Given the description of an element on the screen output the (x, y) to click on. 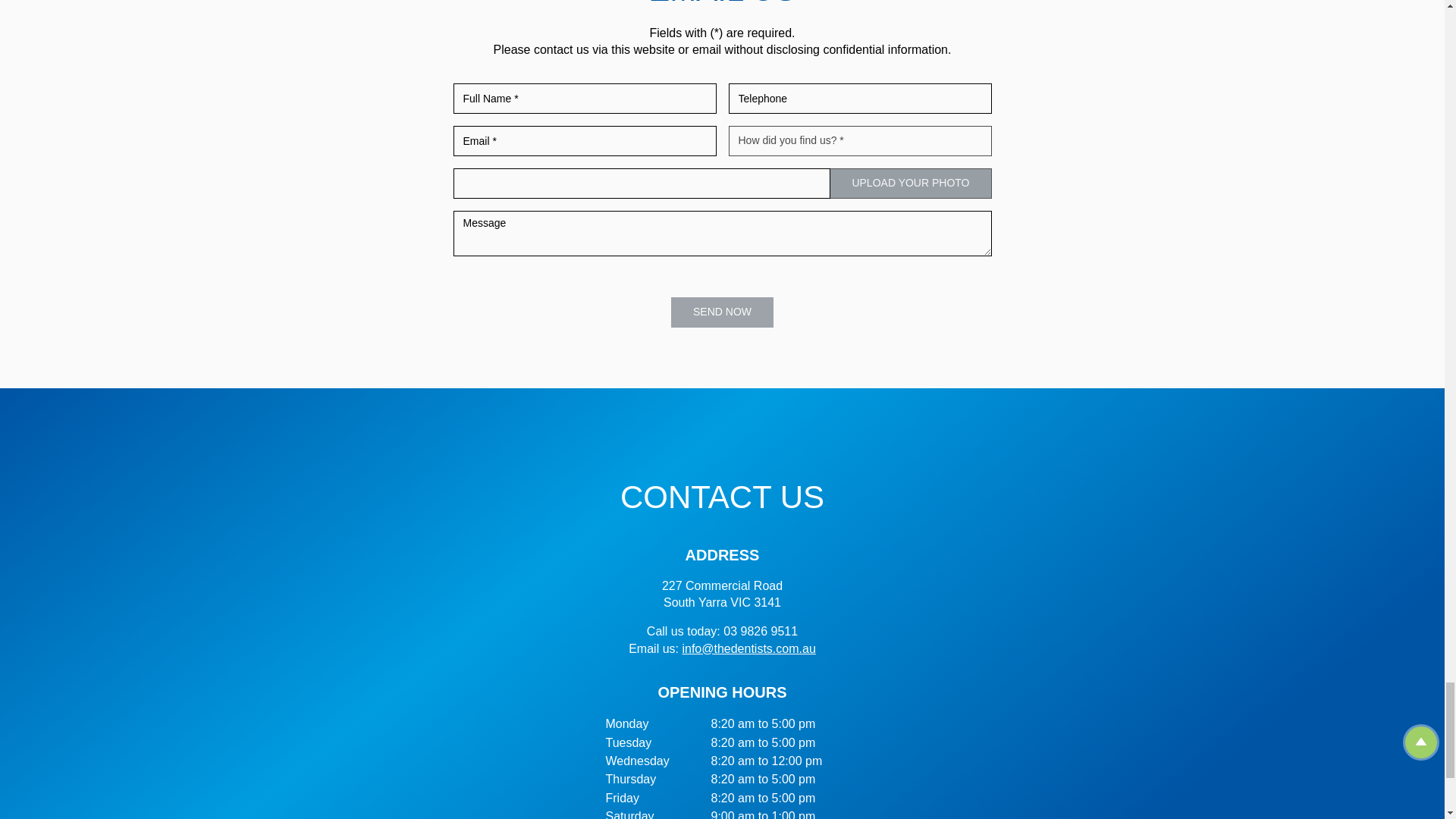
Send Now (722, 312)
Upload Your Photo (910, 183)
Telephone (859, 98)
